Given the description of an element on the screen output the (x, y) to click on. 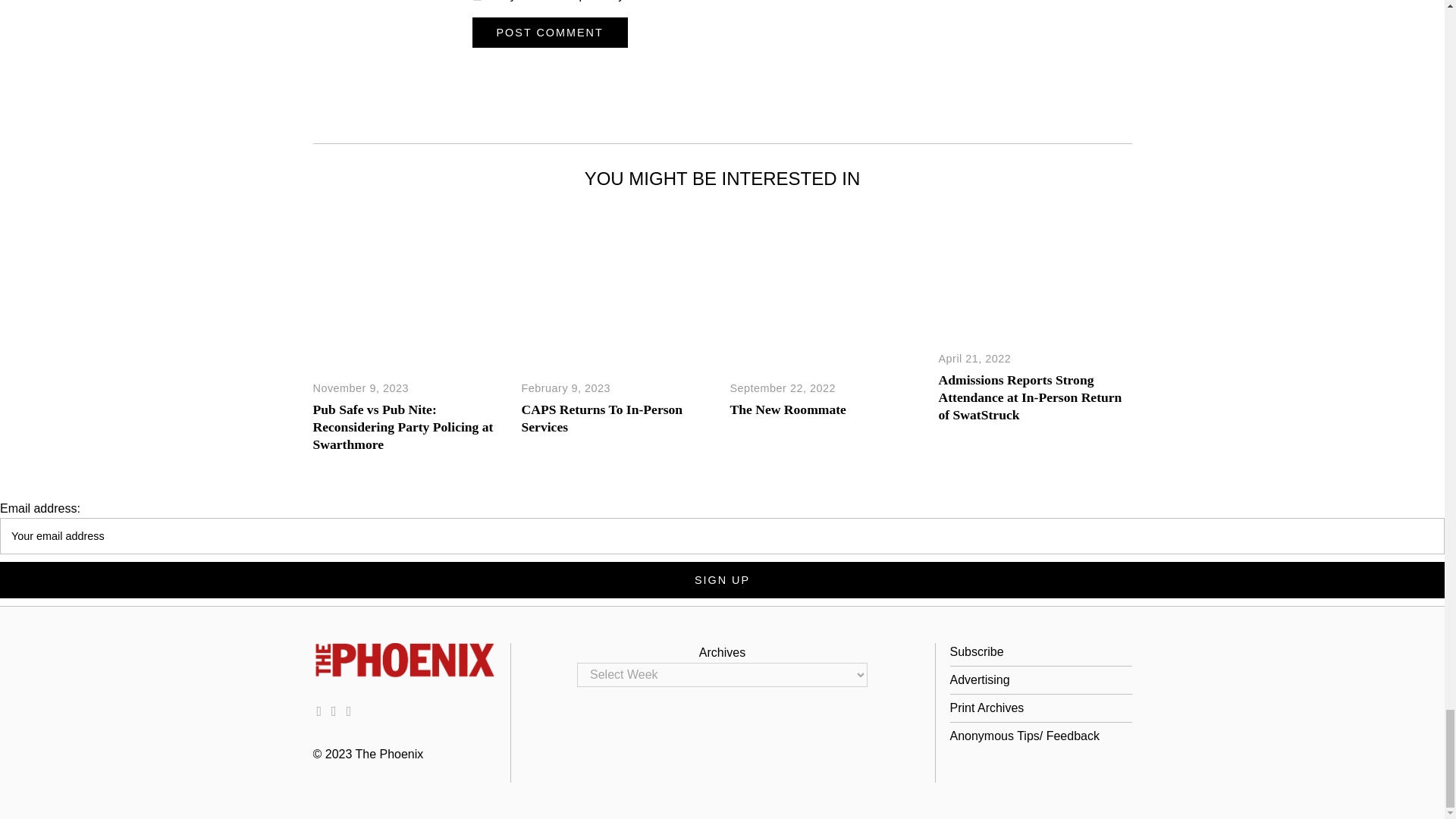
Post Comment (549, 32)
